Given the description of an element on the screen output the (x, y) to click on. 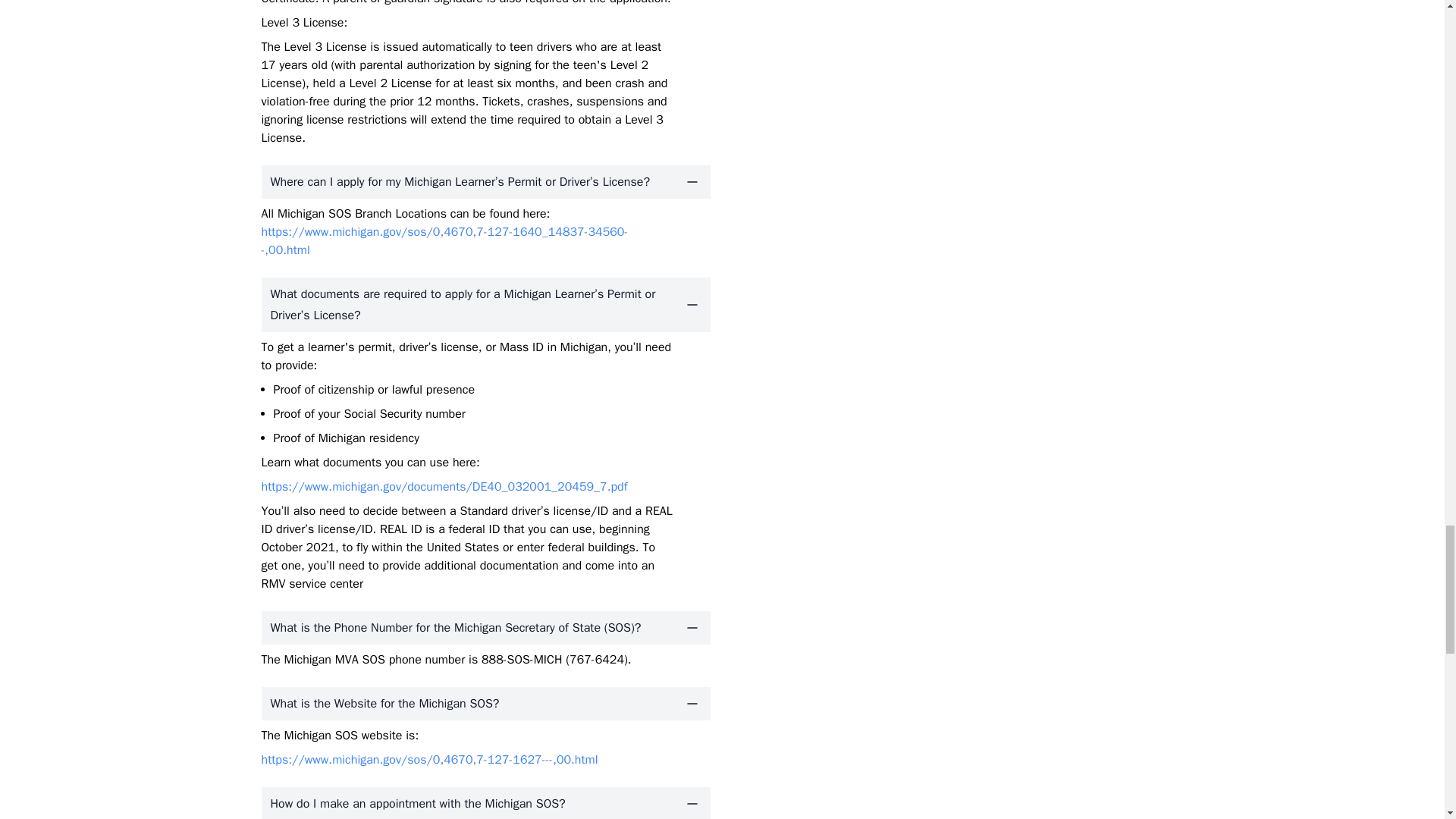
How do I make an appointment with the Michigan SOS? (485, 803)
What is the Website for the Michigan SOS? (485, 703)
